Given the description of an element on the screen output the (x, y) to click on. 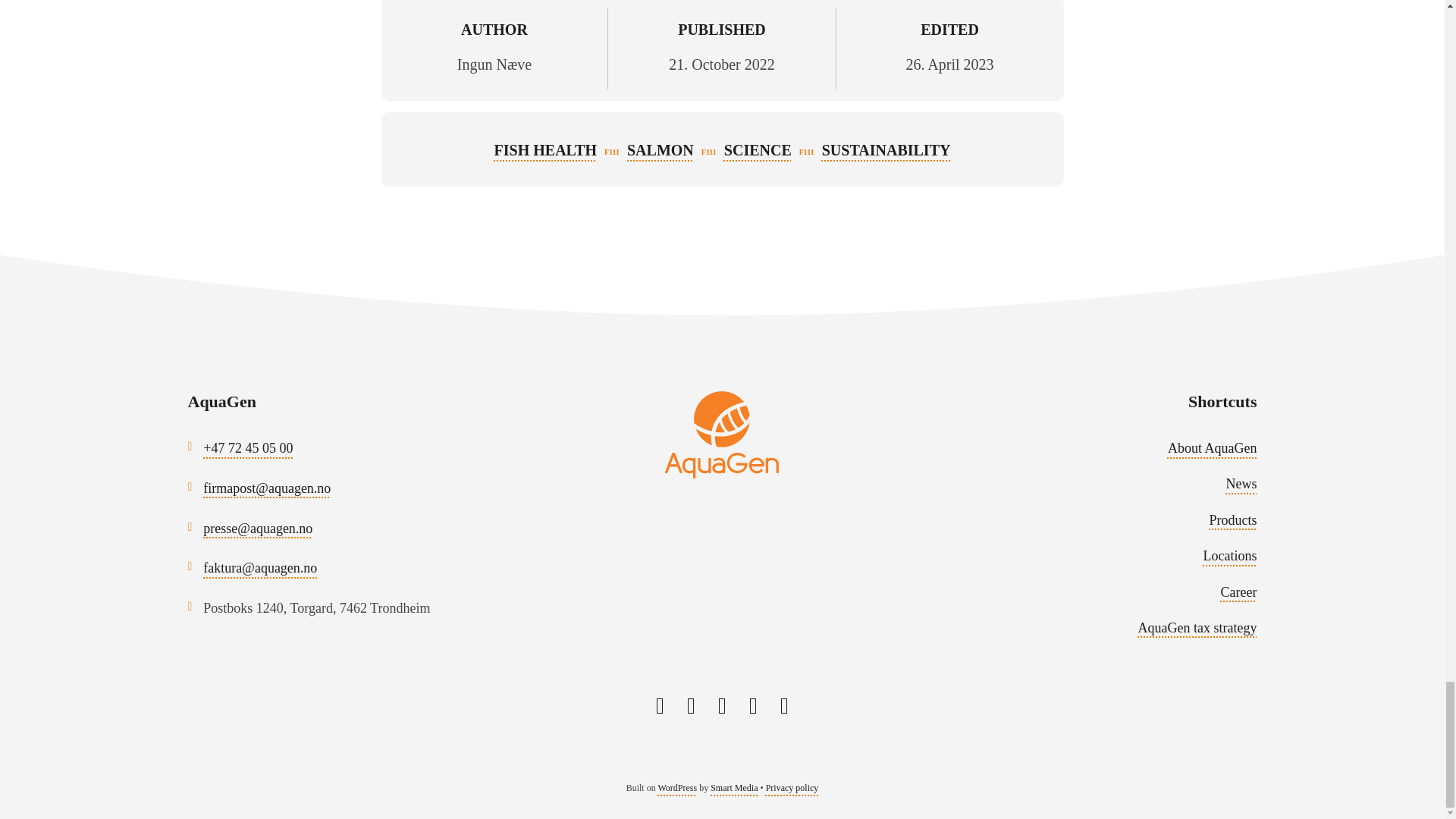
AquaGen tax strategy (1197, 627)
Download AquaGen tax strategy (1197, 627)
SUSTAINABILITY (886, 149)
Locations (1229, 555)
News (1240, 483)
FISH HEALTH (545, 149)
Career (1239, 591)
Products (1232, 519)
SCIENCE (757, 149)
SALMON (660, 149)
About AquaGen (1211, 447)
